Given the description of an element on the screen output the (x, y) to click on. 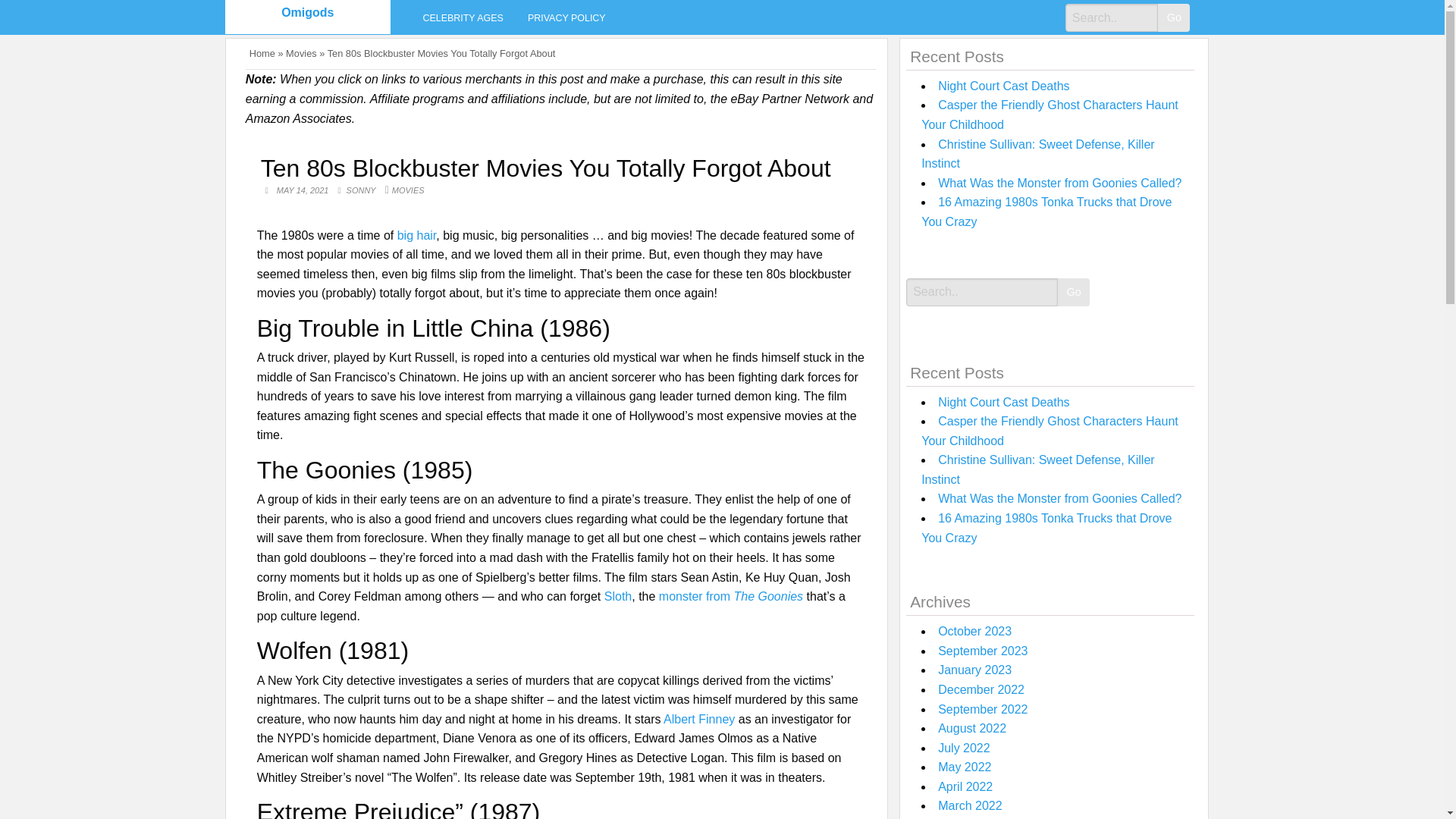
monster from The Goonies (731, 595)
Go (1173, 17)
SONNY (361, 190)
Omigods (307, 11)
big hair (416, 235)
MOVIES (408, 189)
PRIVACY POLICY (566, 17)
Albert Finney (699, 718)
Movies (301, 52)
Home (261, 52)
Go (1073, 292)
MAY 14, 2021 (303, 189)
Go (1173, 17)
CELEBRITY AGES (462, 17)
